Given the description of an element on the screen output the (x, y) to click on. 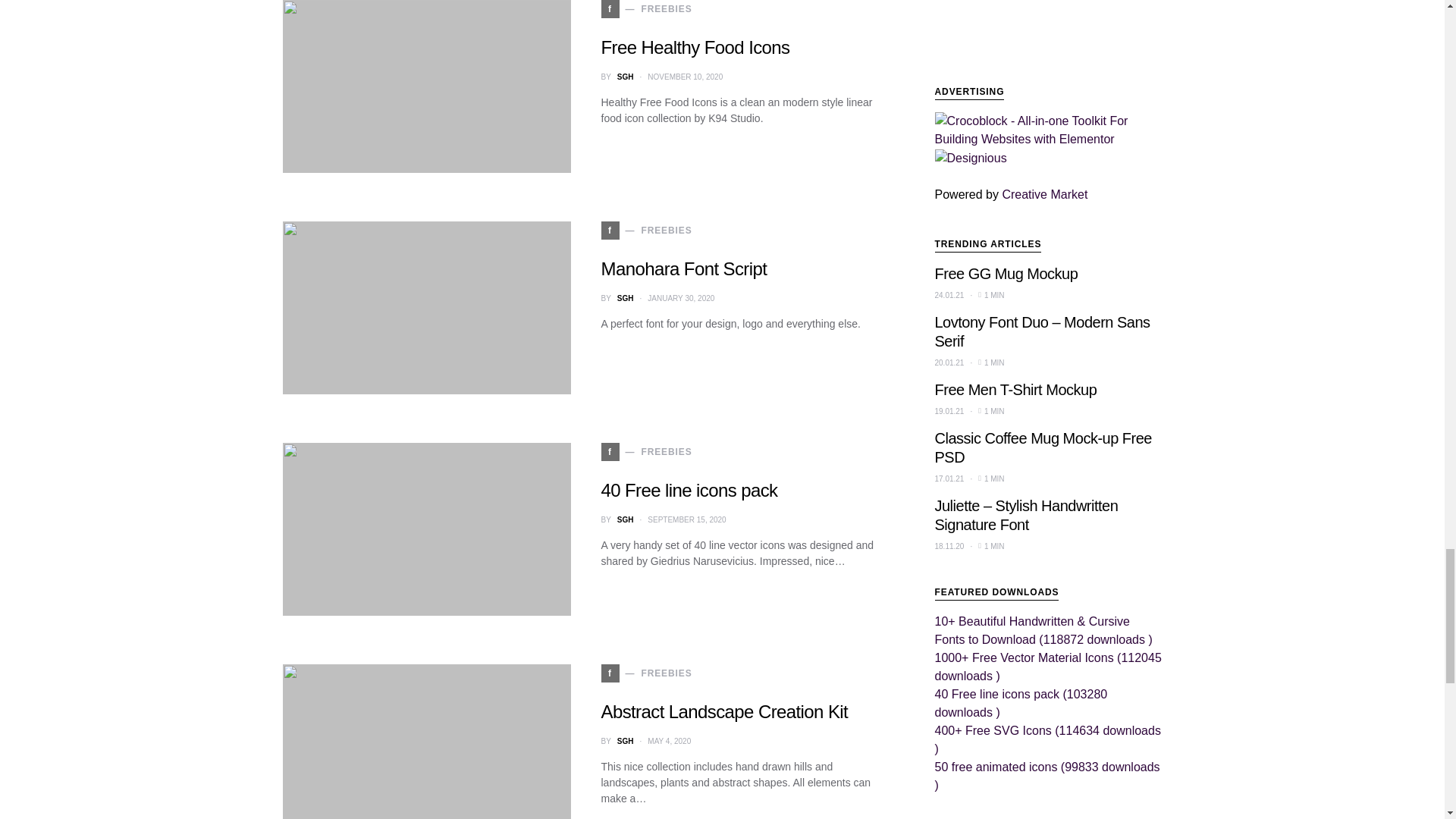
View all posts by SGH (625, 740)
View all posts by SGH (625, 297)
View all posts by SGH (625, 76)
View all posts by SGH (625, 519)
